Given the description of an element on the screen output the (x, y) to click on. 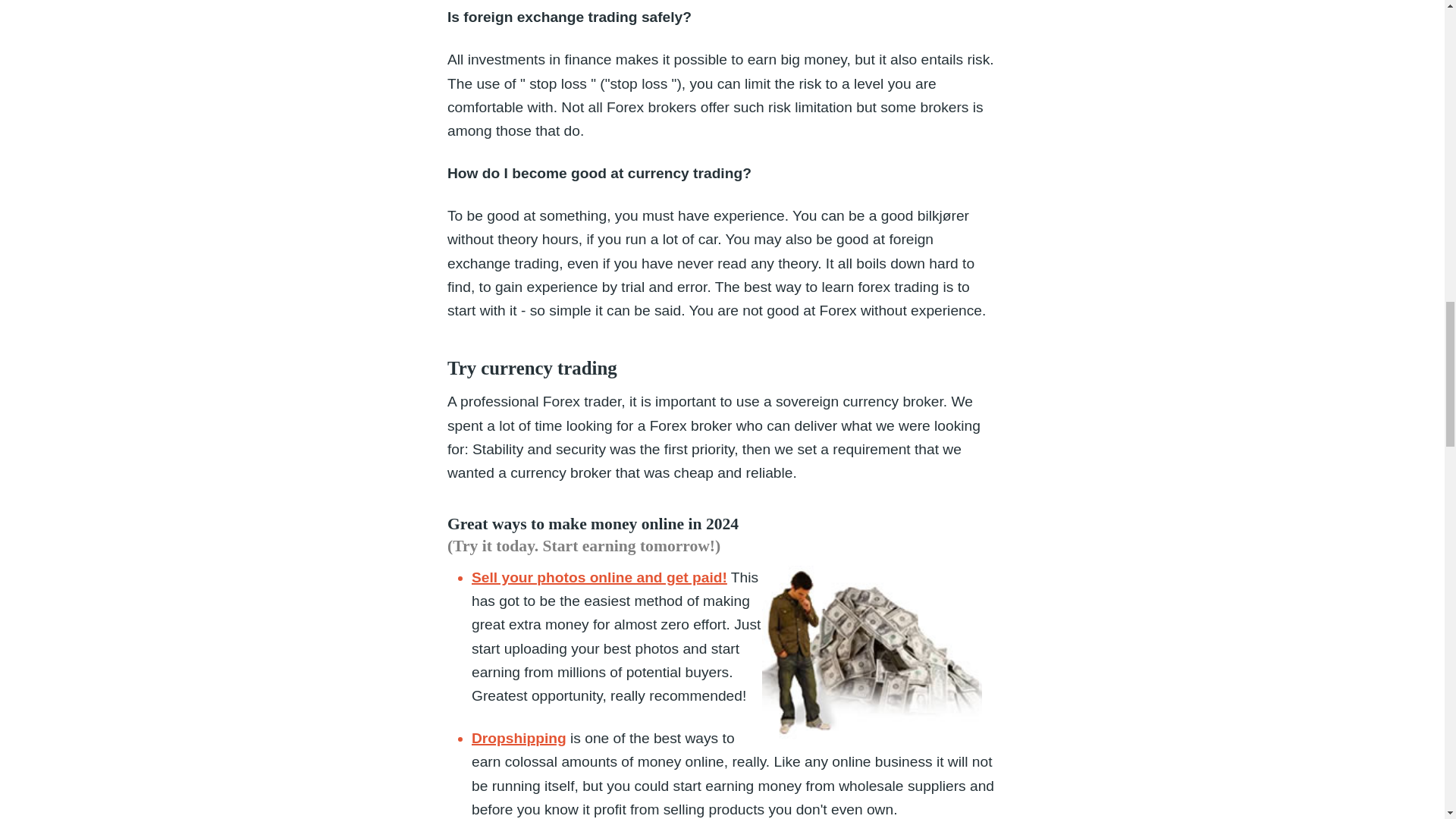
Sell your photos online and get paid! (598, 577)
Dropshipping (518, 738)
